Given the description of an element on the screen output the (x, y) to click on. 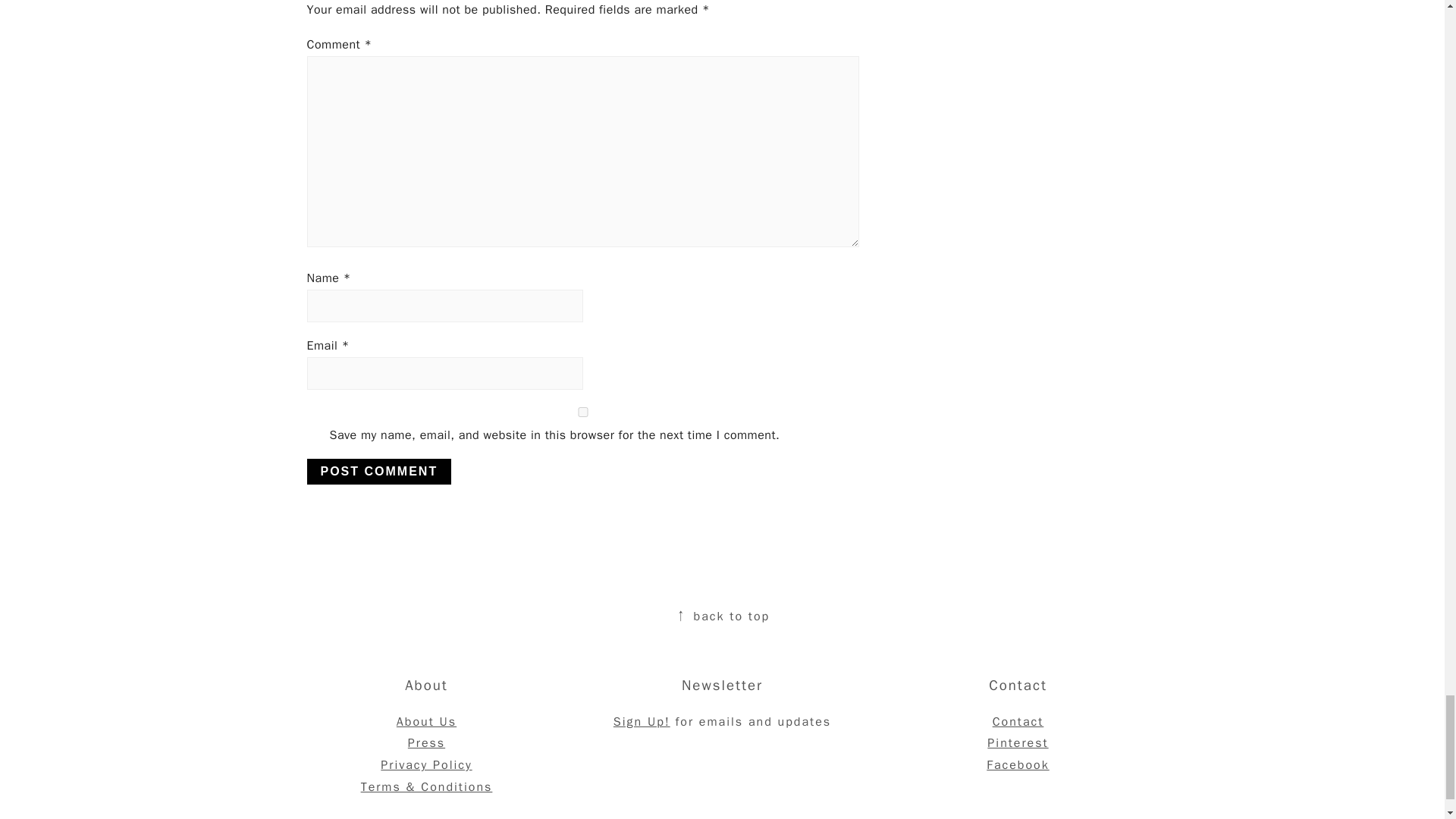
yes (582, 411)
Post Comment (378, 471)
